Given the description of an element on the screen output the (x, y) to click on. 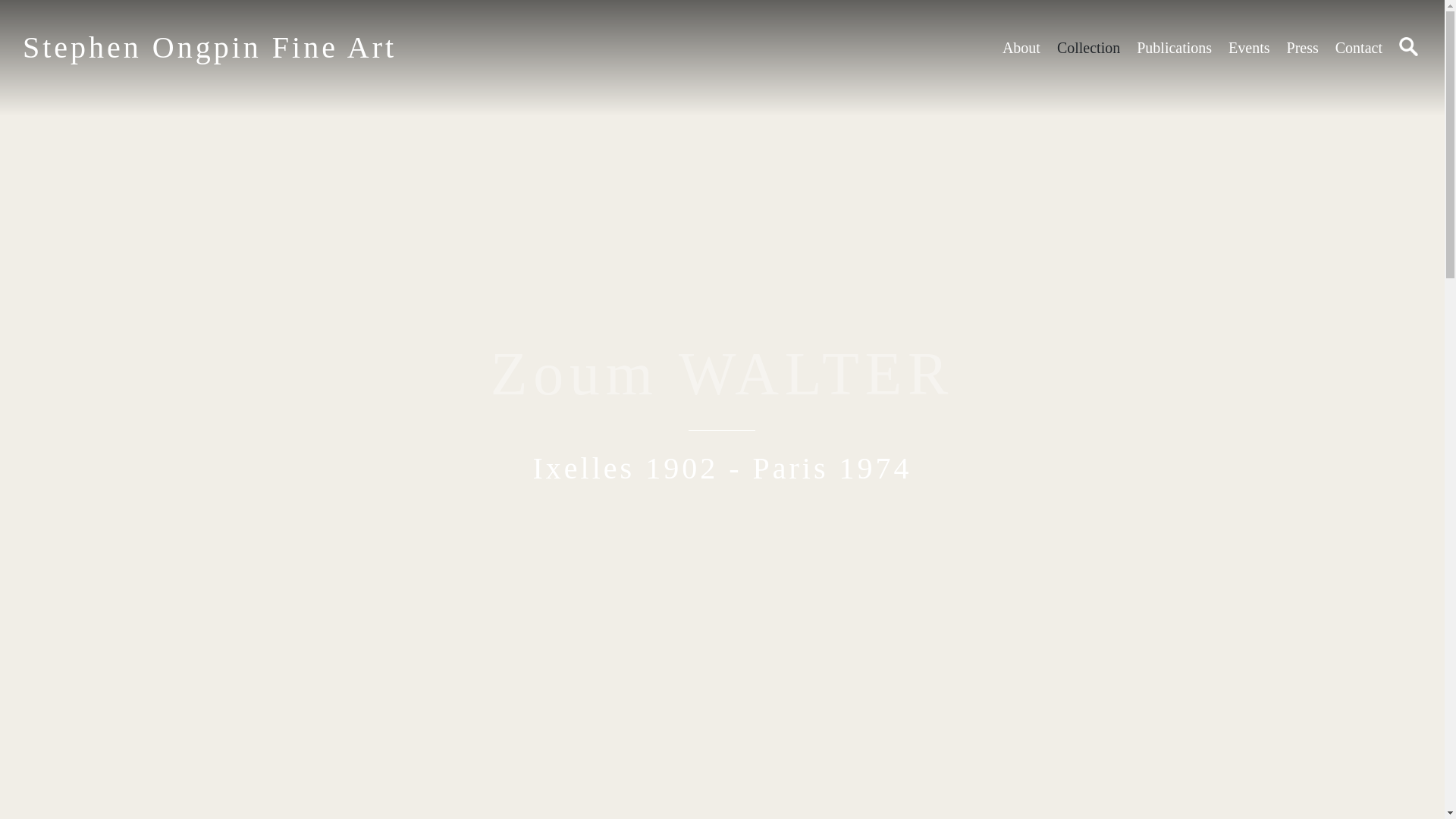
Contact (1358, 47)
Publications (1174, 47)
Collection (1088, 47)
Stephen Ongpin Fine Art (209, 47)
About (1022, 47)
Events (1248, 47)
Press (1303, 47)
